Given the description of an element on the screen output the (x, y) to click on. 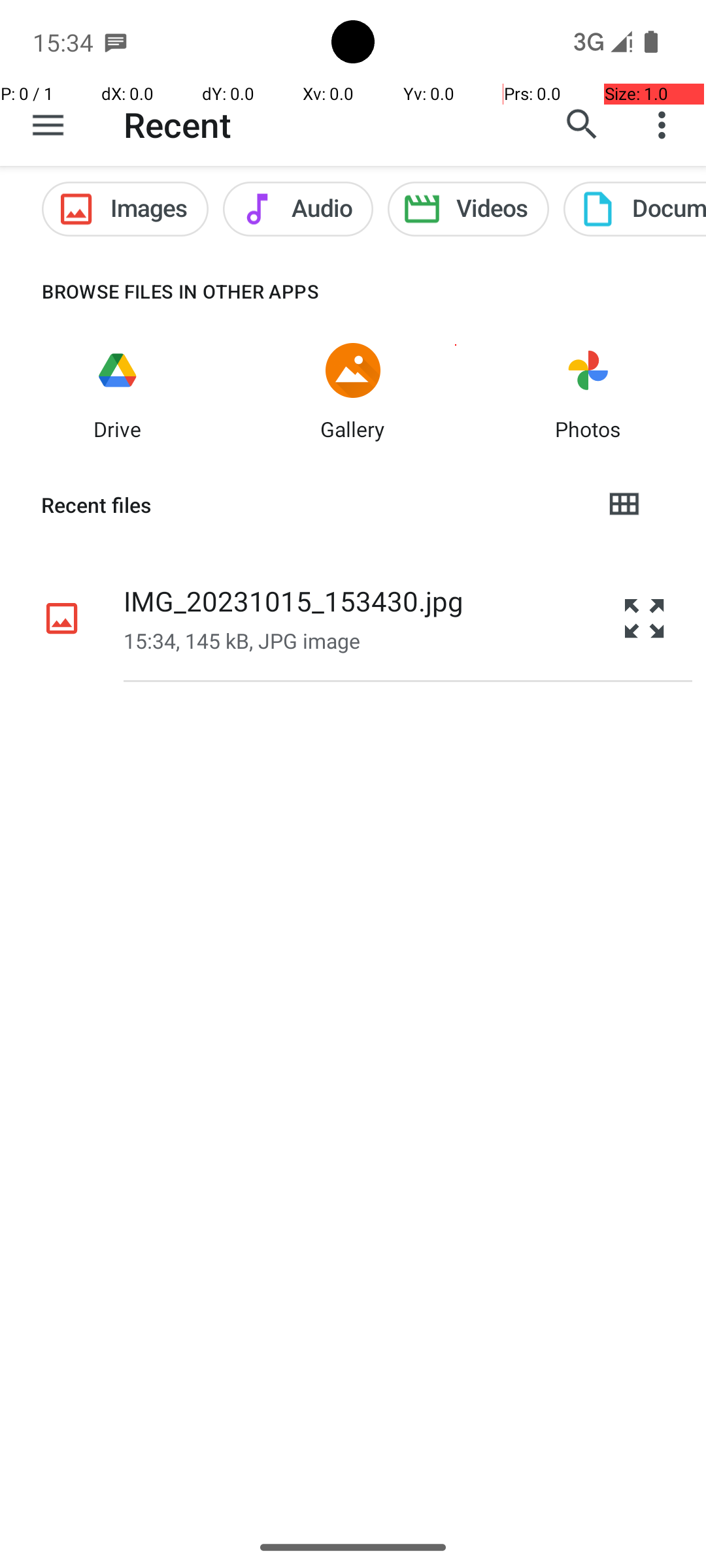
BROWSE FILES IN OTHER APPS Element type: android.widget.TextView (159, 291)
Recent files Element type: android.widget.TextView (311, 504)
IMG_20231015_153430.jpg Element type: android.widget.TextView (293, 600)
15:34, 145 kB, JPG image Element type: android.widget.TextView (241, 640)
Preview the file IMG_20231015_153430.jpg Element type: android.widget.FrameLayout (644, 618)
